Given the description of an element on the screen output the (x, y) to click on. 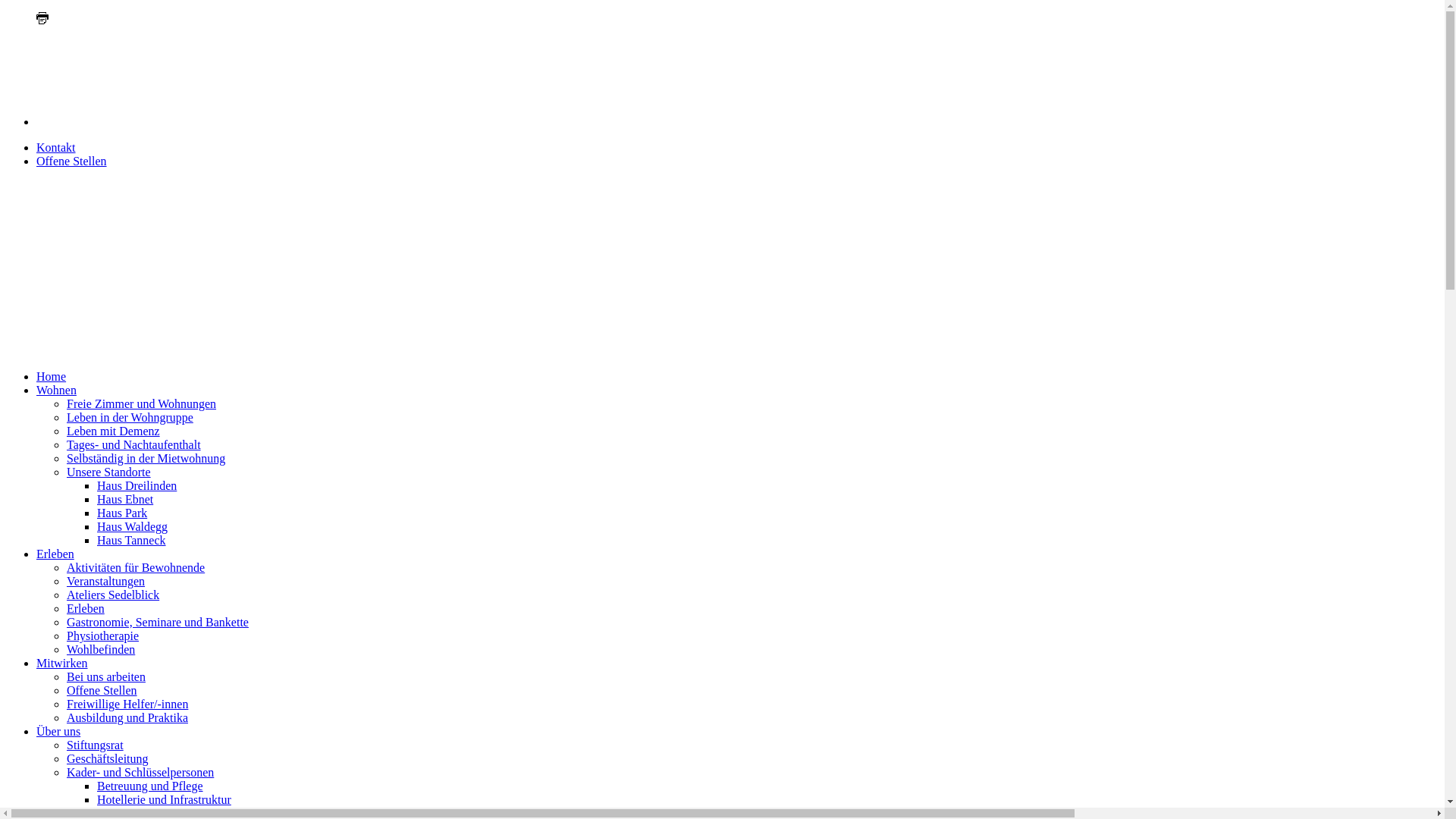
Ateliers Sedelblick Element type: text (112, 594)
Unsere Standorte Element type: text (108, 471)
Freie Zimmer und Wohnungen Element type: text (141, 403)
Haus Tanneck Element type: text (131, 539)
Offene Stellen Element type: text (101, 690)
Veranstaltungen Element type: text (105, 580)
Gastronomie, Seminare und Bankette Element type: text (157, 621)
Leben in der Wohngruppe Element type: text (129, 417)
Ausbildung und Praktika Element type: text (127, 717)
Betreuung und Pflege Element type: text (150, 785)
Freiwillige Helfer/-innen Element type: text (127, 703)
Wohlbefinden Element type: text (100, 649)
Erleben Element type: text (85, 608)
Home Element type: text (50, 376)
Haus Park Element type: text (122, 512)
Tages- und Nachtaufenthalt Element type: text (133, 444)
Haus Ebnet Element type: text (125, 498)
Wohnen Element type: text (56, 389)
Kontakt Element type: text (55, 147)
Mitwirken Element type: text (61, 662)
Leben mit Demenz Element type: text (113, 430)
Haus Waldegg Element type: text (132, 526)
Bei uns arbeiten Element type: text (105, 676)
Haus Dreilinden Element type: text (136, 485)
Offene Stellen Element type: text (71, 160)
Erleben Element type: text (55, 553)
Stiftungsrat Element type: text (94, 744)
Hotellerie und Infrastruktur Element type: text (164, 799)
Physiotherapie Element type: text (102, 635)
